Given the description of an element on the screen output the (x, y) to click on. 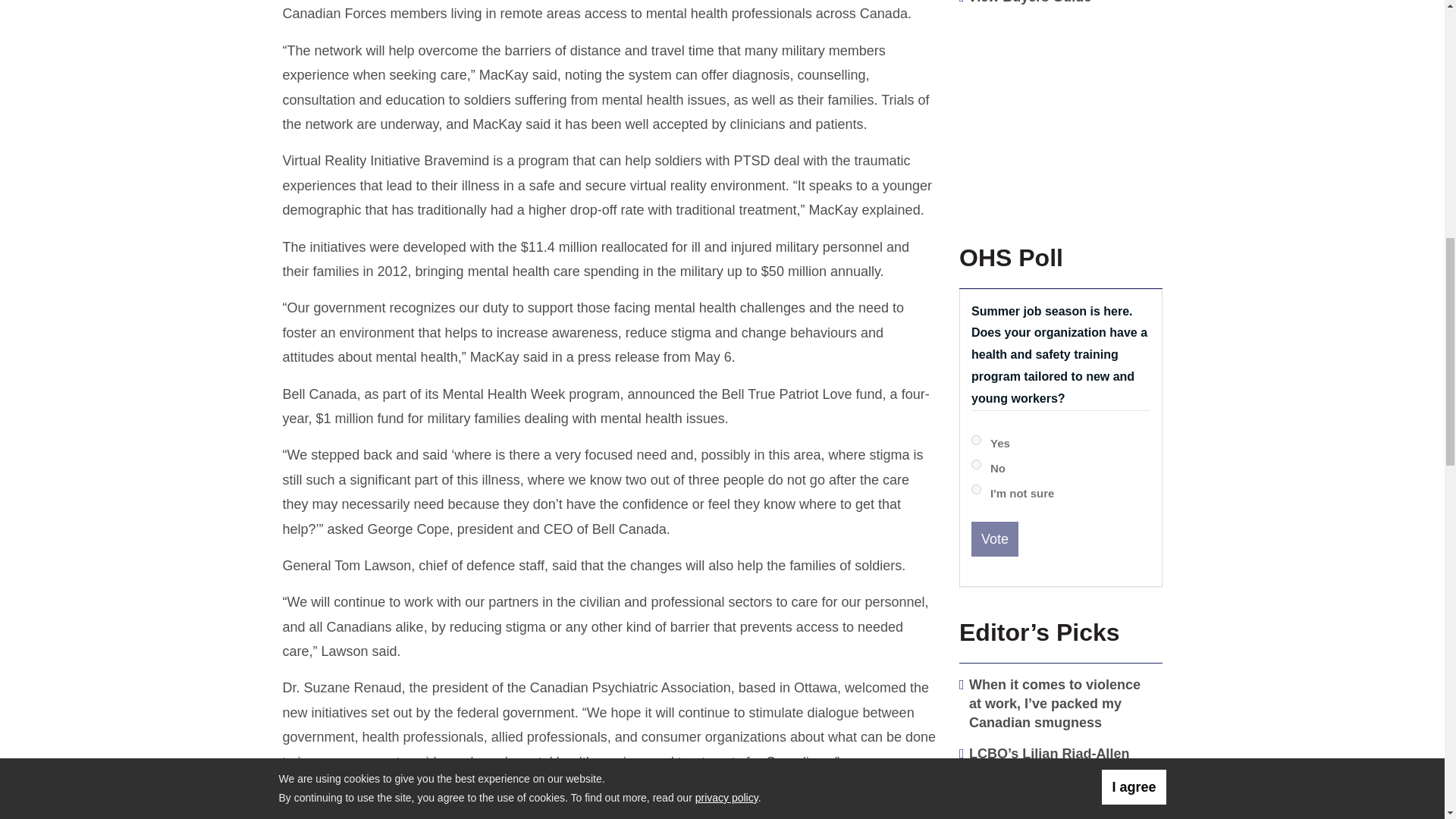
3rd party ad content (1057, 113)
Vote (994, 538)
gpoll141fdf755 (976, 489)
gpoll188dfb902 (976, 464)
gpoll135233128 (976, 439)
